Given the description of an element on the screen output the (x, y) to click on. 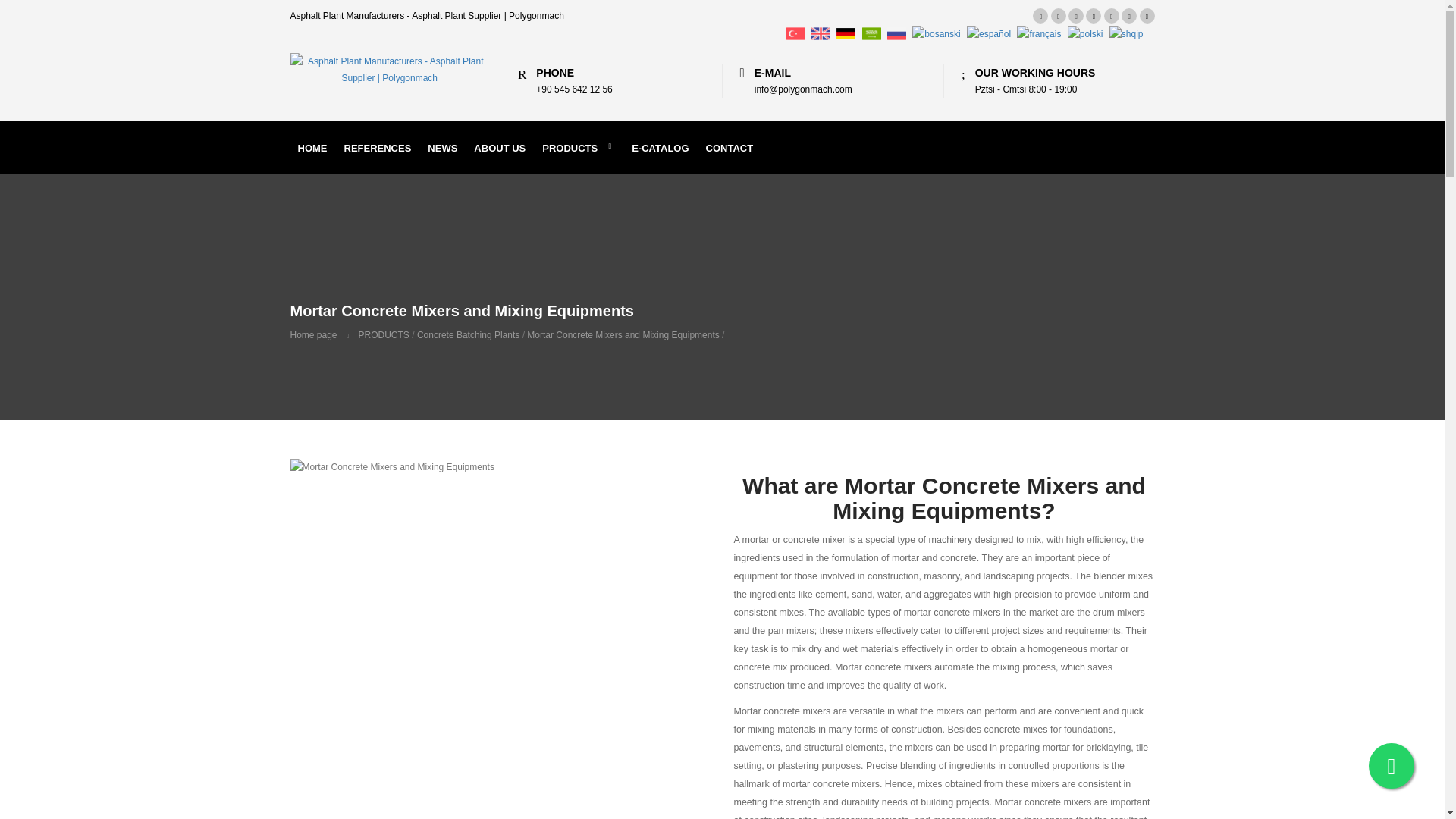
Instagram (1129, 15)
ABOUT US (499, 146)
PRODUCTS (577, 146)
shqip (1125, 33)
bosanski (935, 33)
Twitter (1040, 15)
Facebook (1093, 15)
English (819, 33)
REFERENCES (377, 146)
Pinterest (1058, 15)
